Given the description of an element on the screen output the (x, y) to click on. 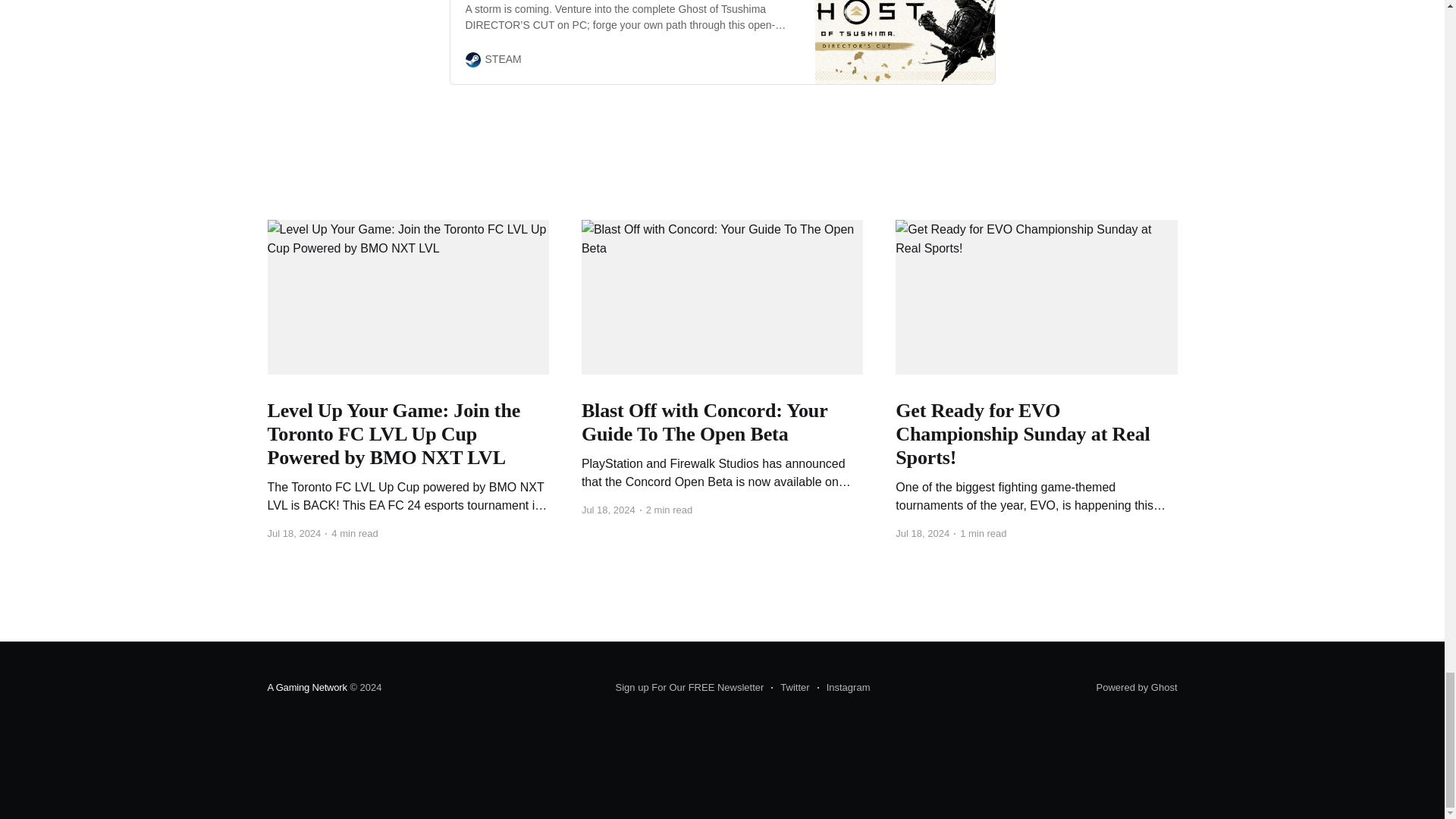
Sign up For Our FREE Newsletter (689, 687)
Twitter (790, 687)
Instagram (843, 687)
Powered by Ghost (1136, 686)
A Gaming Network (306, 686)
